Given the description of an element on the screen output the (x, y) to click on. 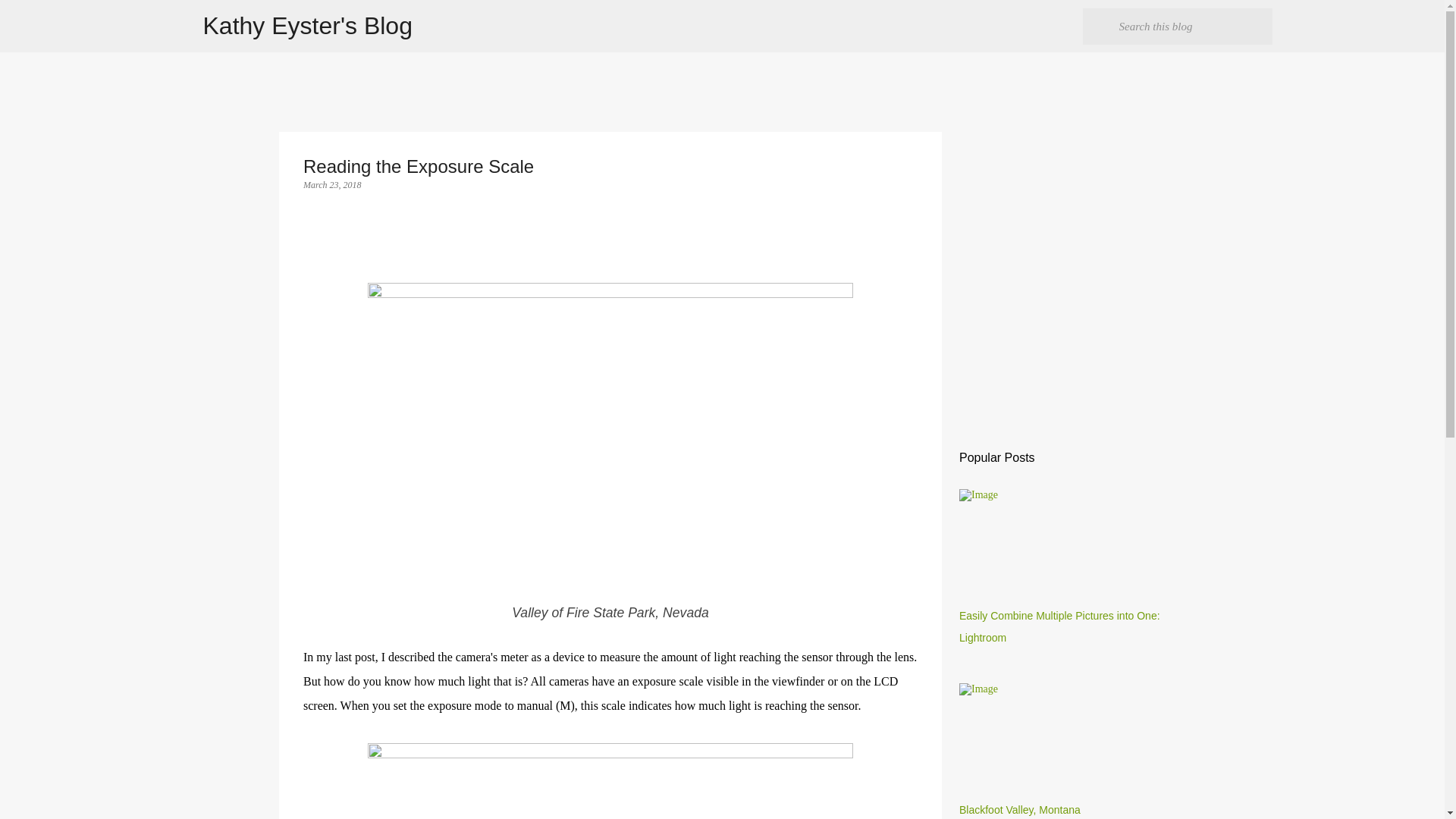
Blackfoot Valley, Montana (1019, 809)
Kathy Eyster's Blog (307, 25)
Easily Combine Multiple Pictures into One: Lightroom (1059, 626)
March 23, 2018 (331, 184)
permanent link (331, 184)
